Given the description of an element on the screen output the (x, y) to click on. 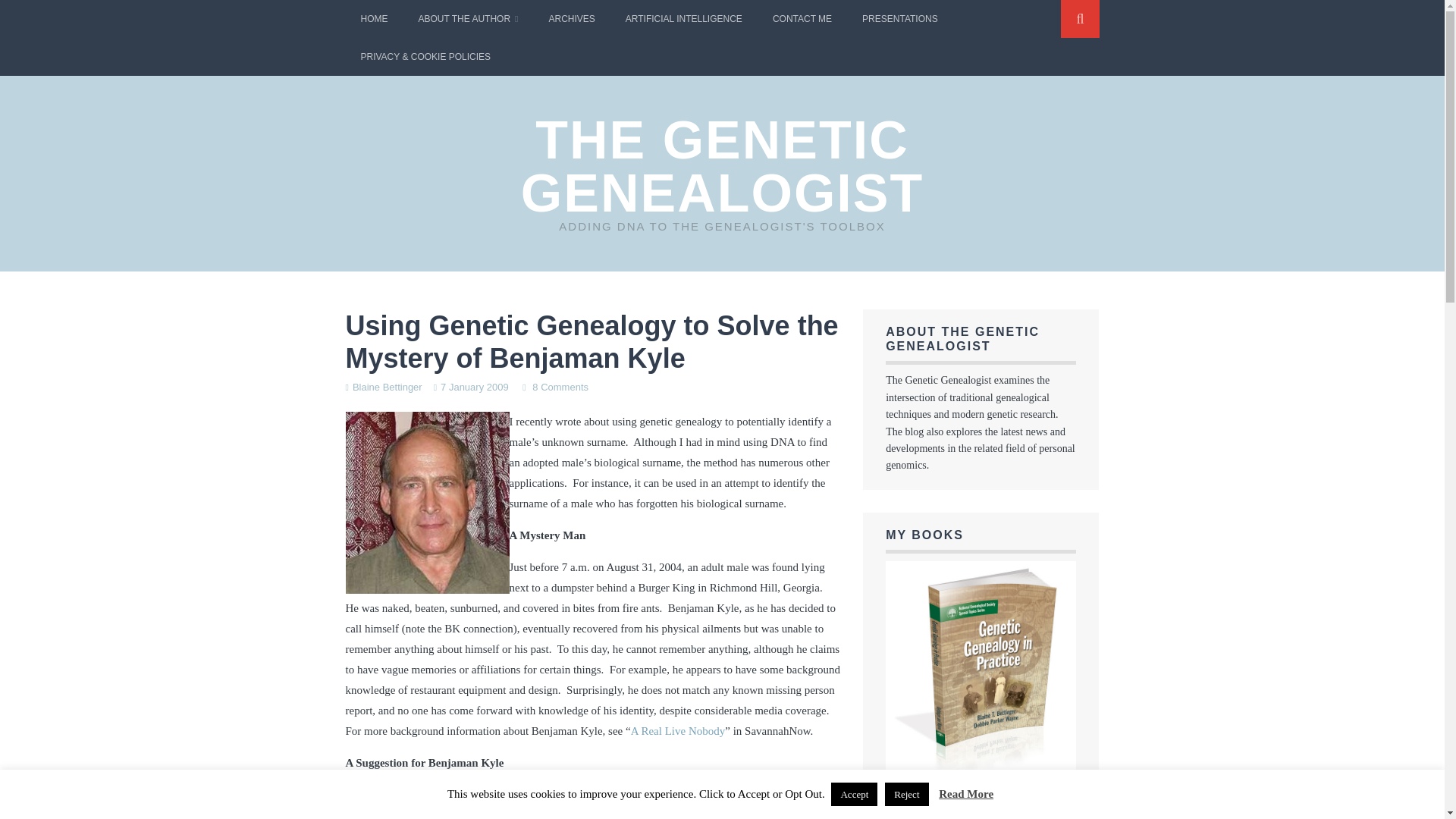
CONTACT ME (802, 18)
Blaine Bettinger (387, 387)
ABOUT THE AUTHOR (468, 18)
8 Comments (560, 387)
7 January 2009 (474, 387)
A Real Live Nobody (677, 730)
ARTIFICIAL INTELLIGENCE (683, 18)
HOME (374, 18)
Bkcleanshaven (427, 502)
ARCHIVES (571, 18)
Family Tree DNA (432, 814)
THE GENETIC GENEALOGIST (722, 166)
here (659, 814)
PRESENTATIONS (900, 18)
